Given the description of an element on the screen output the (x, y) to click on. 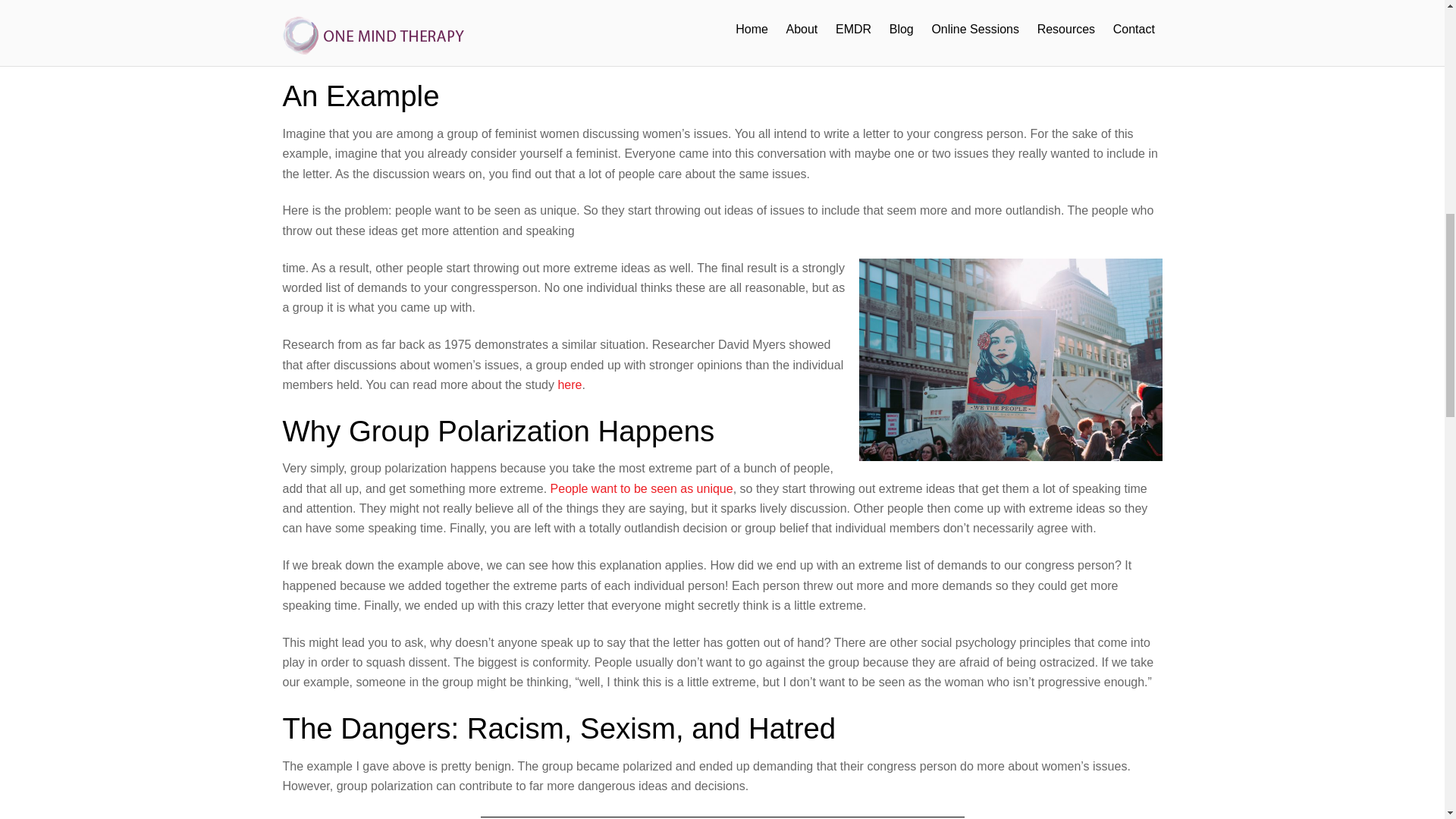
here (568, 384)
People want to be seen as unique (641, 488)
Group polarization (331, 29)
